Given the description of an element on the screen output the (x, y) to click on. 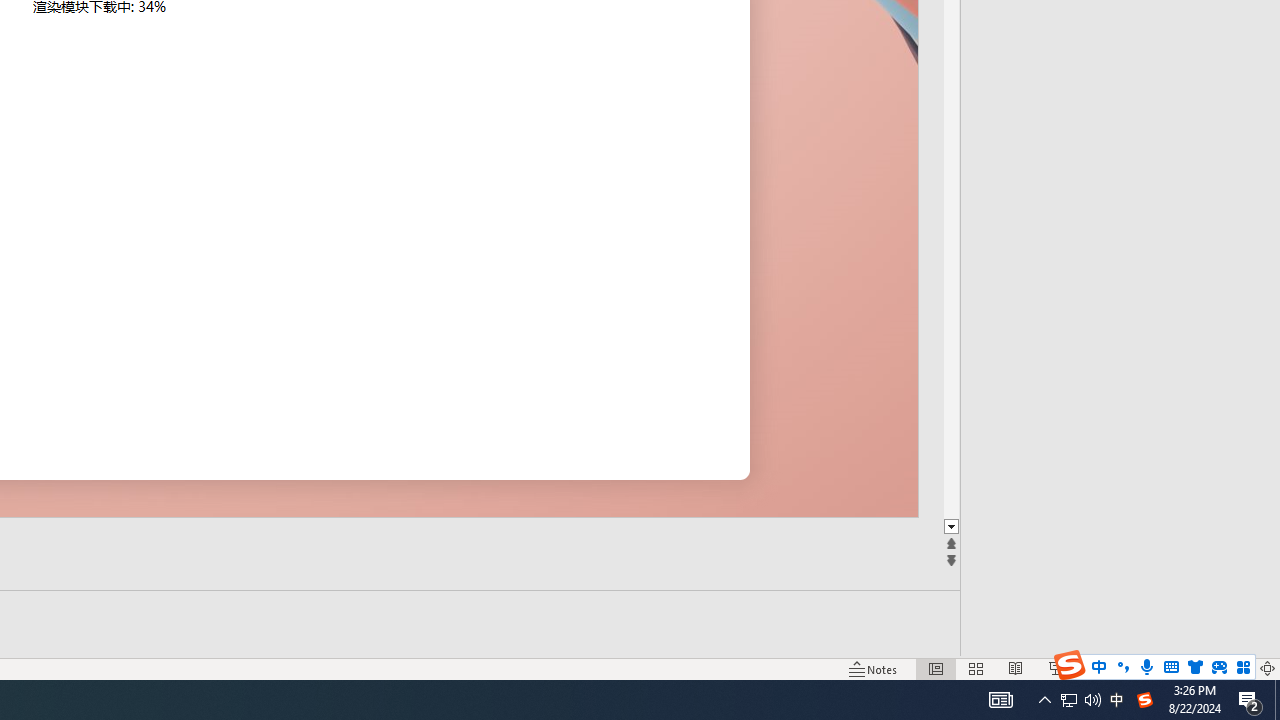
Zoom 140% (1234, 668)
